Given the description of an element on the screen output the (x, y) to click on. 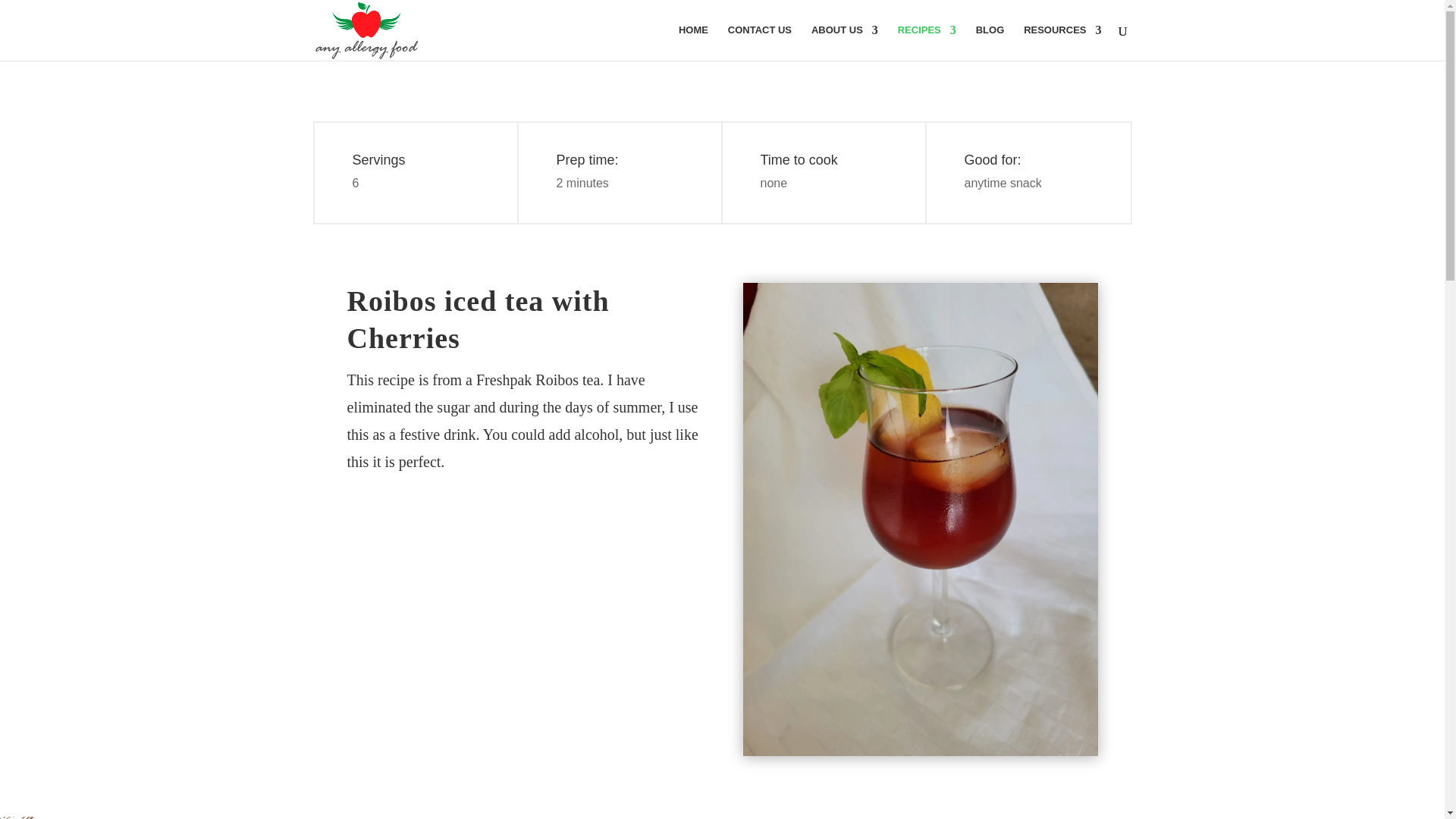
RECIPES (927, 42)
ABOUT US (843, 42)
CONTACT US (760, 42)
